Given the description of an element on the screen output the (x, y) to click on. 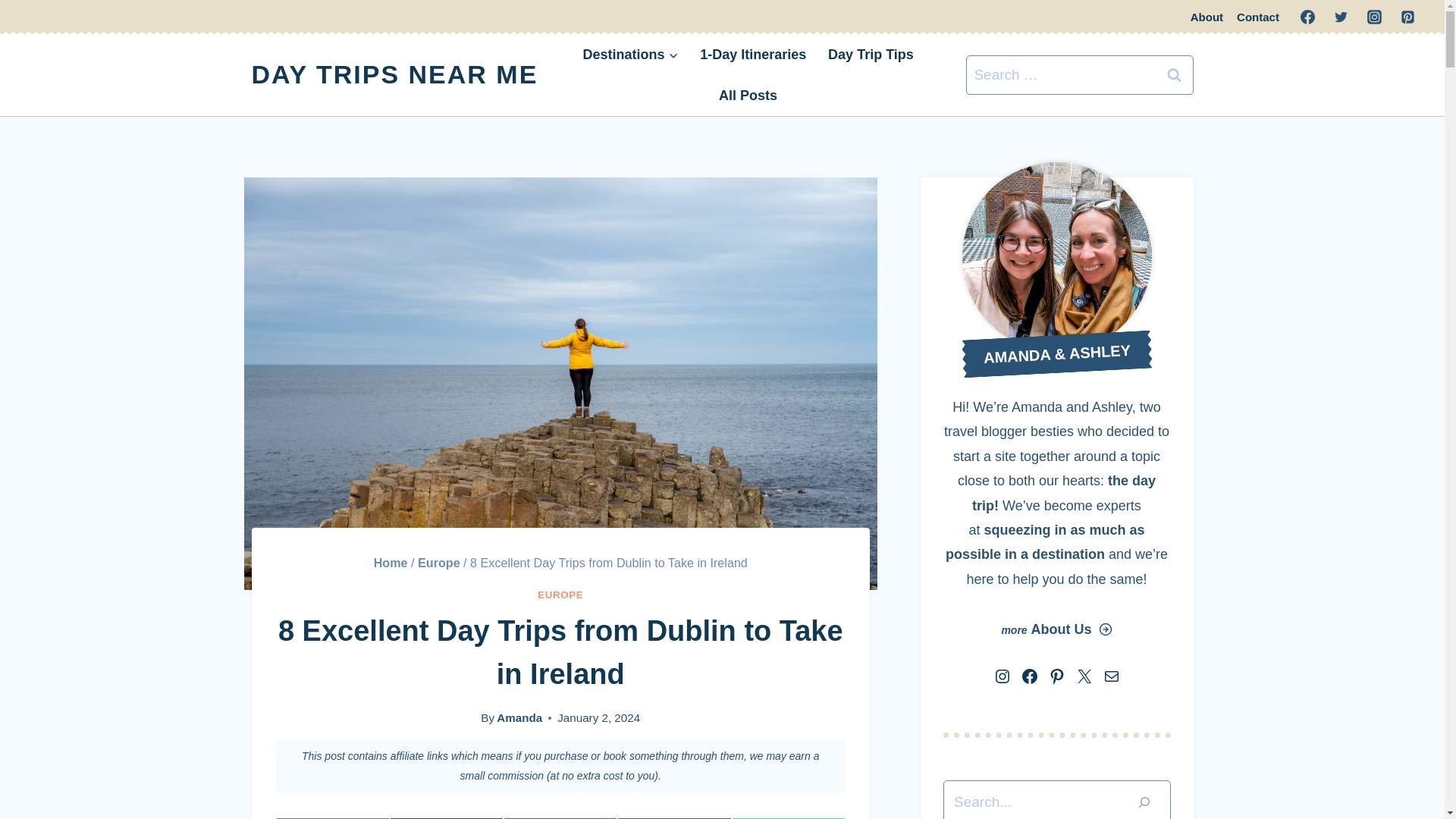
Day Trip Tips (870, 54)
1-Day Itineraries (752, 54)
About (1206, 17)
Amanda (518, 717)
Search (1174, 74)
Search (1174, 74)
Search (333, 818)
DAY TRIPS NEAR ME (560, 818)
Home (1174, 74)
Contact (394, 74)
All Posts (390, 562)
EUROPE (1257, 17)
